Given the description of an element on the screen output the (x, y) to click on. 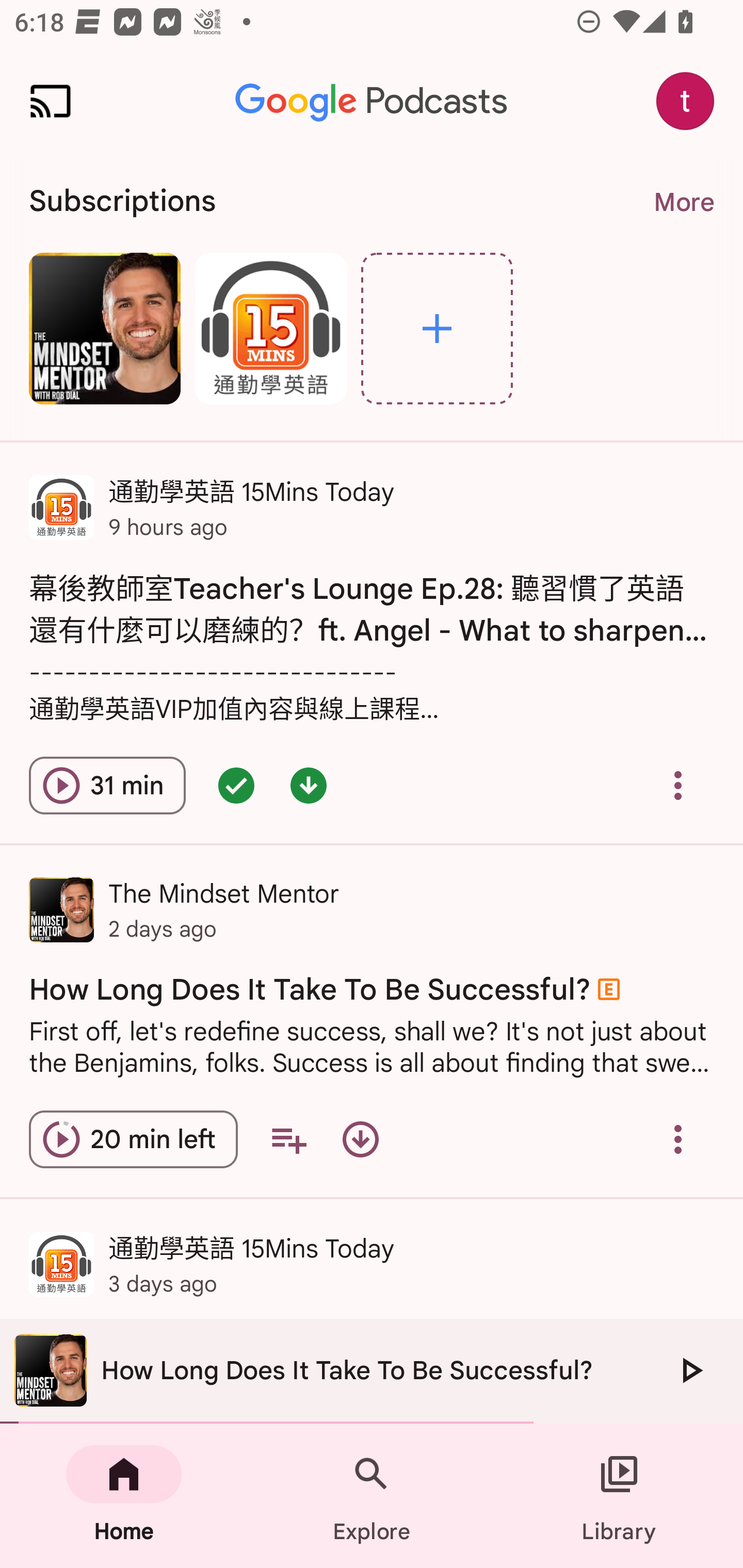
Cast. Disconnected (50, 101)
More More. Navigate to subscriptions page. (683, 202)
The Mindset Mentor (104, 328)
通勤學英語 15Mins Today (270, 328)
Explore (436, 328)
Episode queued - double tap for options (235, 785)
Episode downloaded - double tap for options (308, 785)
Overflow menu (677, 785)
Add to your queue (288, 1139)
Download episode (360, 1139)
Overflow menu (677, 1139)
Play (690, 1370)
Explore (371, 1495)
Library (619, 1495)
